Given the description of an element on the screen output the (x, y) to click on. 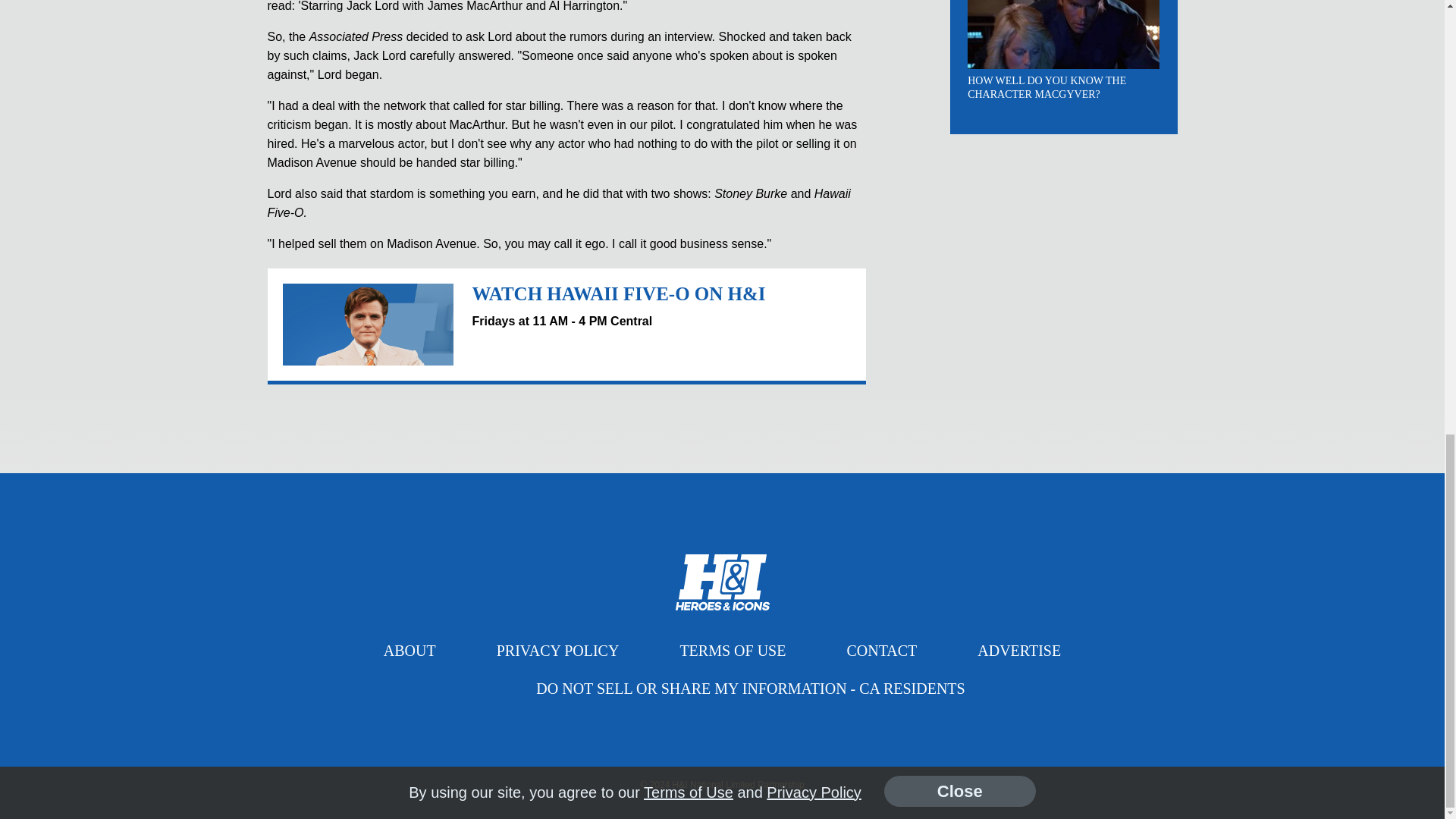
ADVERTISE (1018, 650)
CONTACT (881, 650)
HOW WELL DO YOU KNOW THE CHARACTER MACGYVER? (1046, 87)
DO NOT SELL OR SHARE MY INFORMATION - CA RESIDENTS (749, 688)
ABOUT (409, 650)
TERMS OF USE (732, 650)
PRIVACY POLICY (558, 650)
